Given the description of an element on the screen output the (x, y) to click on. 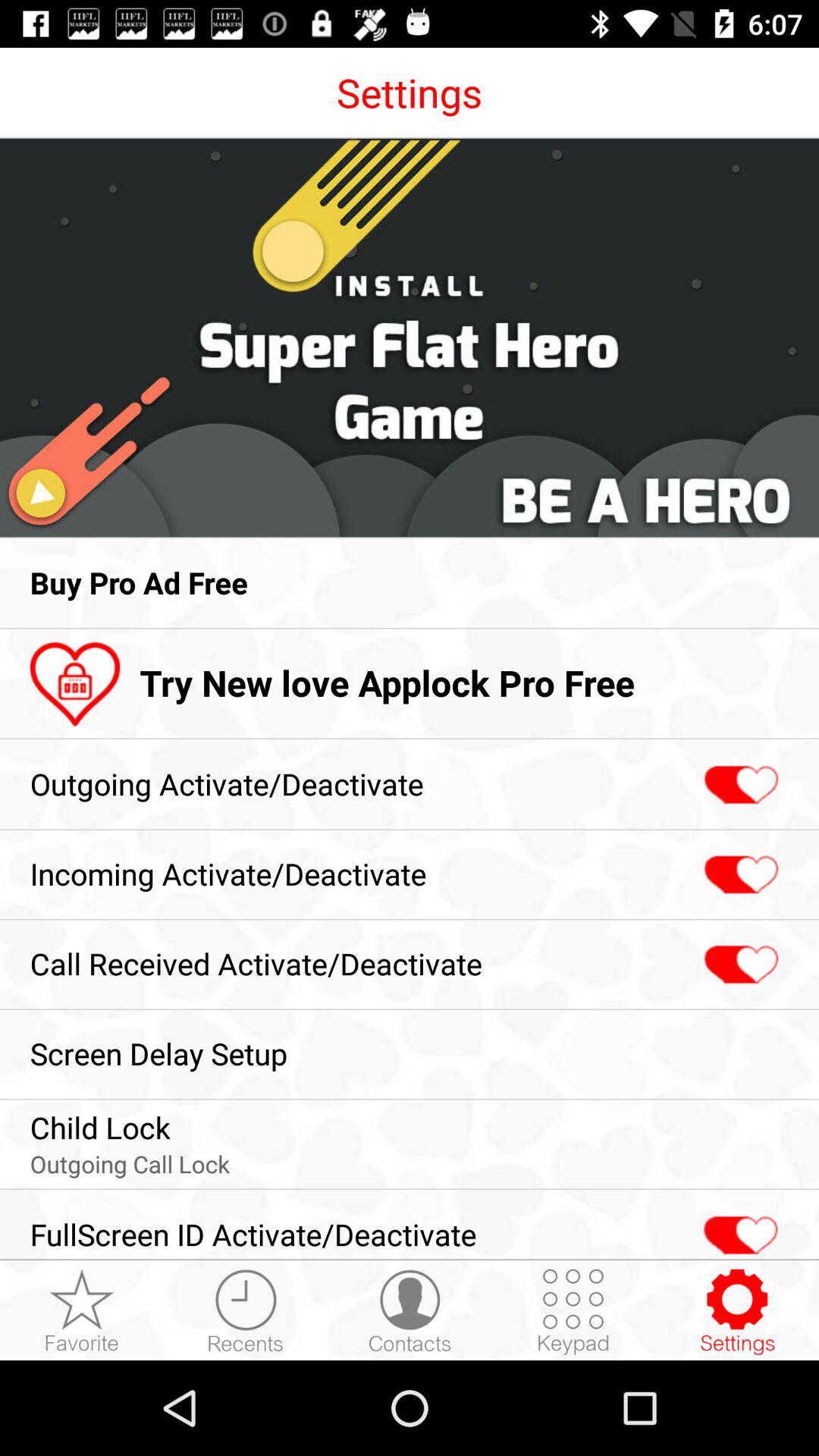
toggle outgoing (739, 785)
